Given the description of an element on the screen output the (x, y) to click on. 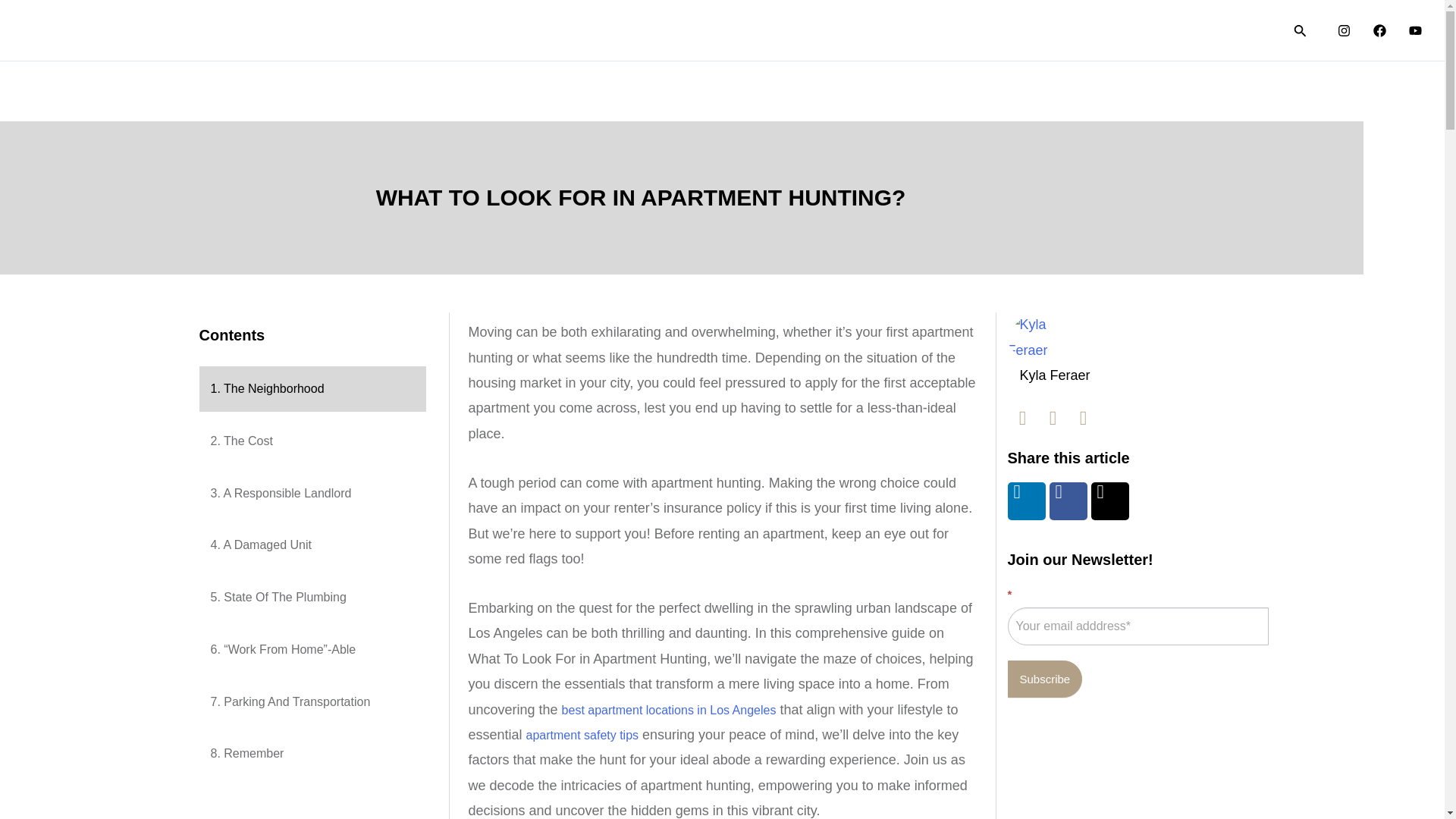
The Neighborhood (311, 388)
A Responsible Landlord (311, 493)
NEWSLETTER (1212, 30)
TRENDING (786, 30)
SMELL GOOD (996, 30)
LOOK GOOD (887, 30)
FEEL GOOD (1103, 30)
best apartment locations in Los Angeles (669, 709)
Remember (311, 753)
apartment safety tips (582, 735)
The Cost (311, 441)
A Damaged Unit (311, 545)
Parking And Transportation (311, 701)
State Of The Plumbing (311, 596)
Search (1299, 30)
